Given the description of an element on the screen output the (x, y) to click on. 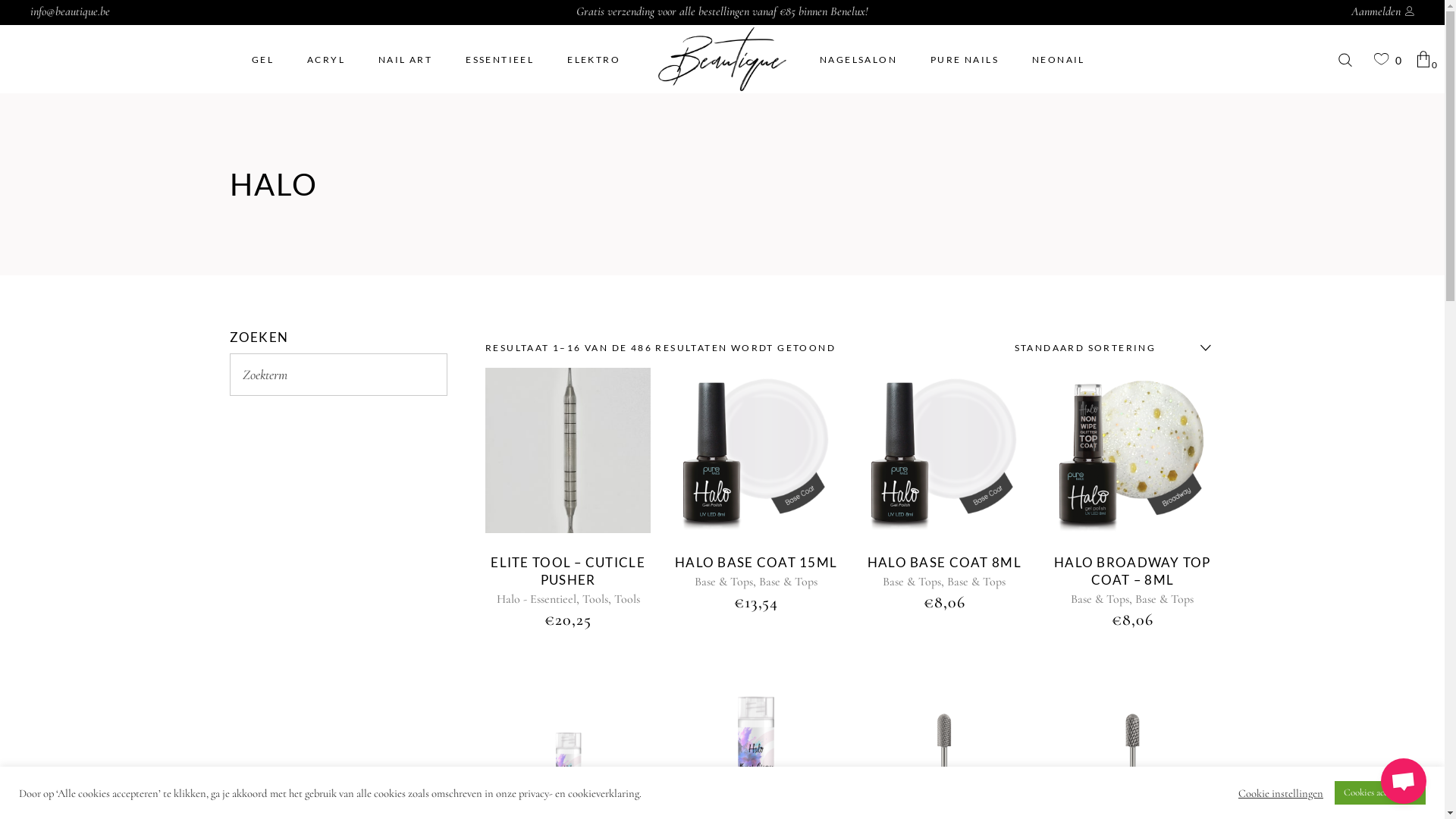
NAGELSALON Element type: text (858, 59)
info@beautique.be Element type: text (69, 10)
Base & Tops Element type: text (788, 581)
Tools Element type: text (627, 598)
Base & Tops Element type: text (1099, 598)
ACRYL Element type: text (325, 59)
Cookies accepteren Element type: text (1379, 792)
PURE NAILS Element type: text (964, 59)
0 Element type: text (1427, 59)
Cookie instellingen Element type: text (1280, 792)
HALO BASE COAT 15ML Element type: text (755, 562)
Base & Tops Element type: text (1164, 598)
NAIL ART Element type: text (404, 59)
0 Element type: text (1388, 59)
Base & Tops Element type: text (976, 581)
Base & Tops Element type: text (911, 581)
GEL Element type: text (262, 59)
Base & Tops Element type: text (723, 581)
HALO BASE COAT 8ML Element type: text (944, 562)
Tools Element type: text (595, 598)
ELEKTRO Element type: text (593, 59)
NEONAIL Element type: text (1058, 59)
ESSENTIEEL Element type: text (499, 59)
Aanmelden Element type: text (1382, 10)
Halo - Essentieel Element type: text (536, 598)
